Given the description of an element on the screen output the (x, y) to click on. 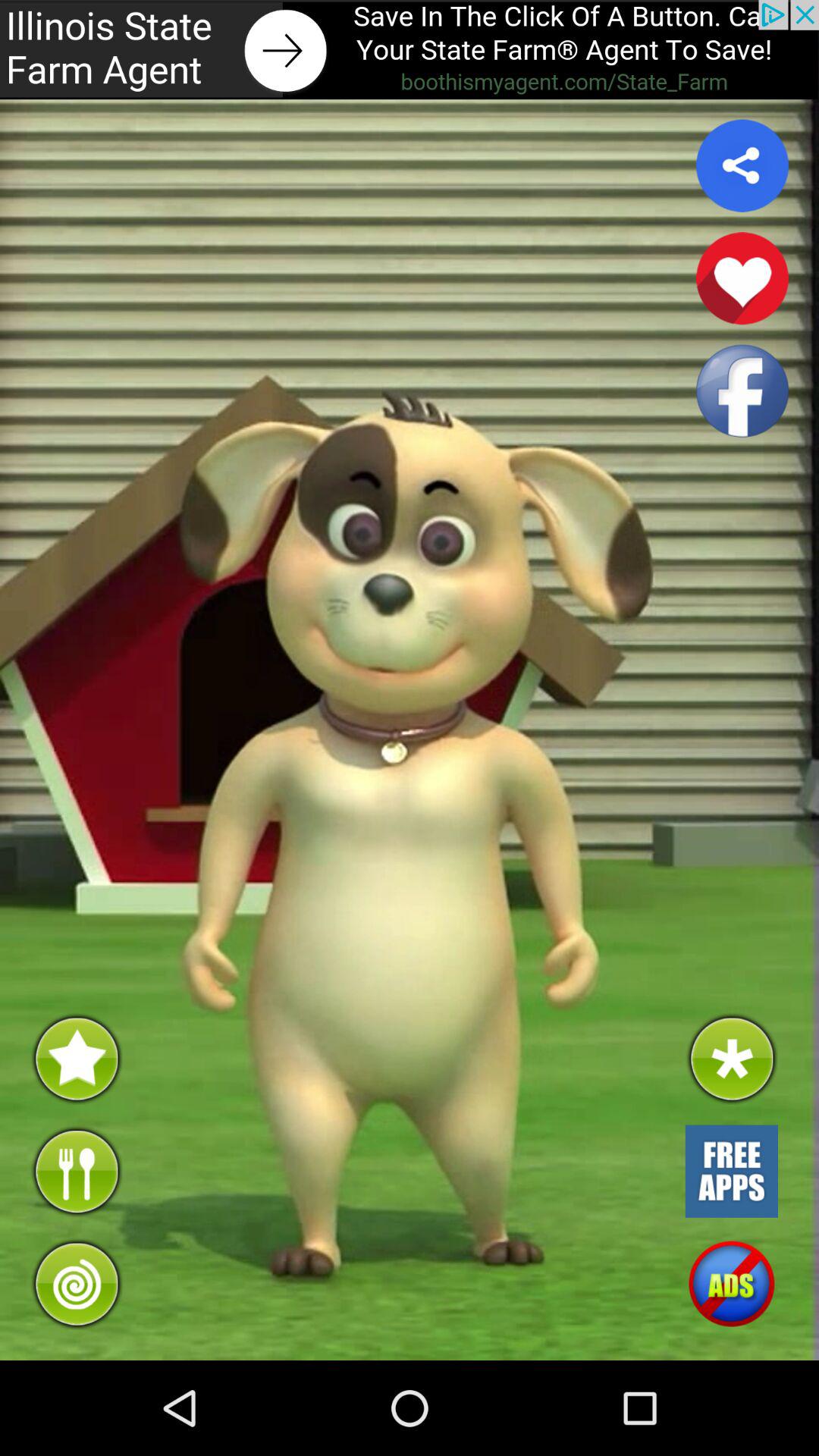
add to favorites (742, 278)
